Given the description of an element on the screen output the (x, y) to click on. 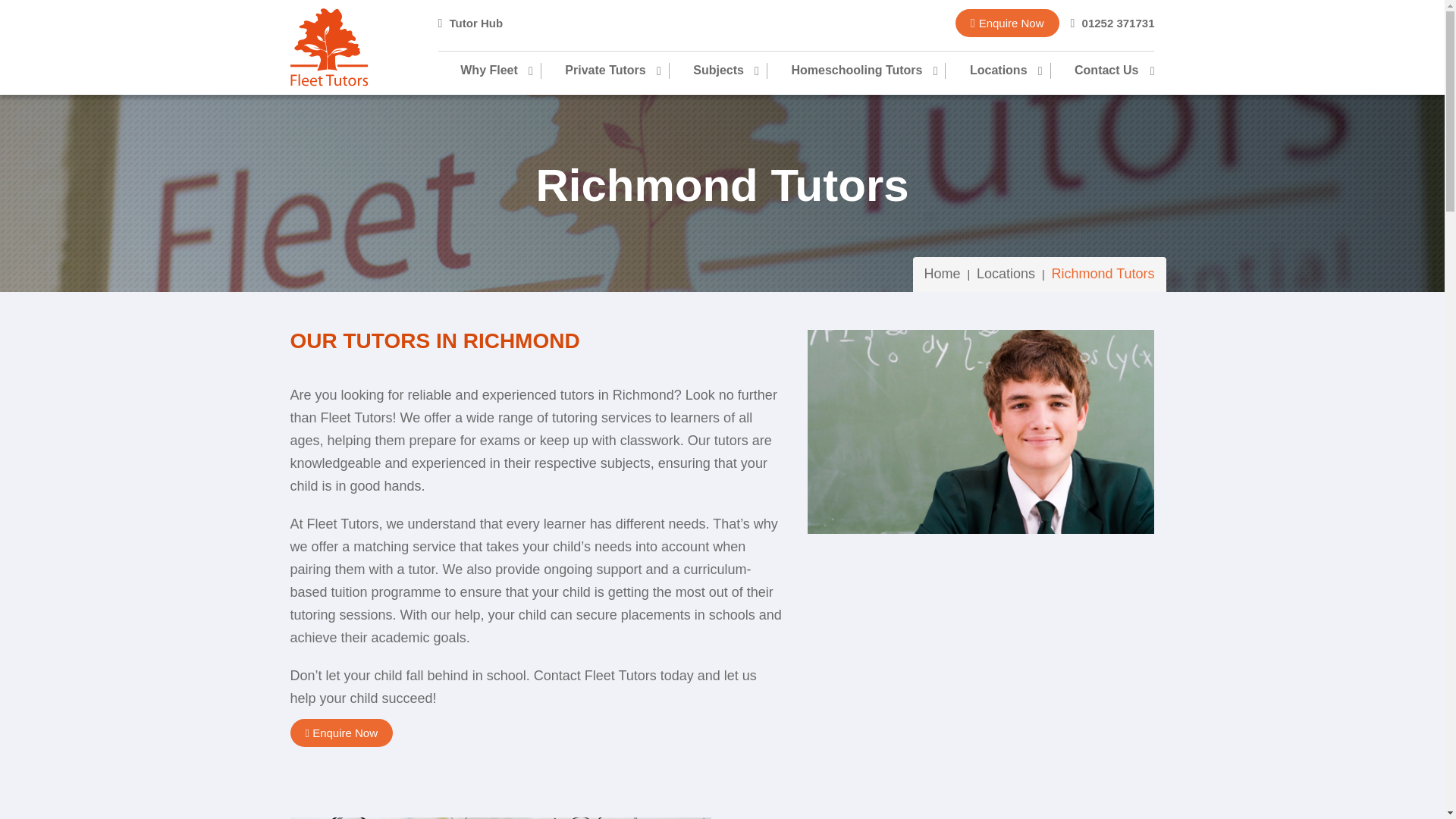
Go to Fleet Tutors. (942, 273)
01252 371731 (1112, 22)
Subjects (717, 70)
Why Fleet (500, 70)
Enquire Now (1007, 22)
Go to Locations. (1005, 273)
Tutor Hub (470, 22)
Private Tutors (604, 70)
